Given the description of an element on the screen output the (x, y) to click on. 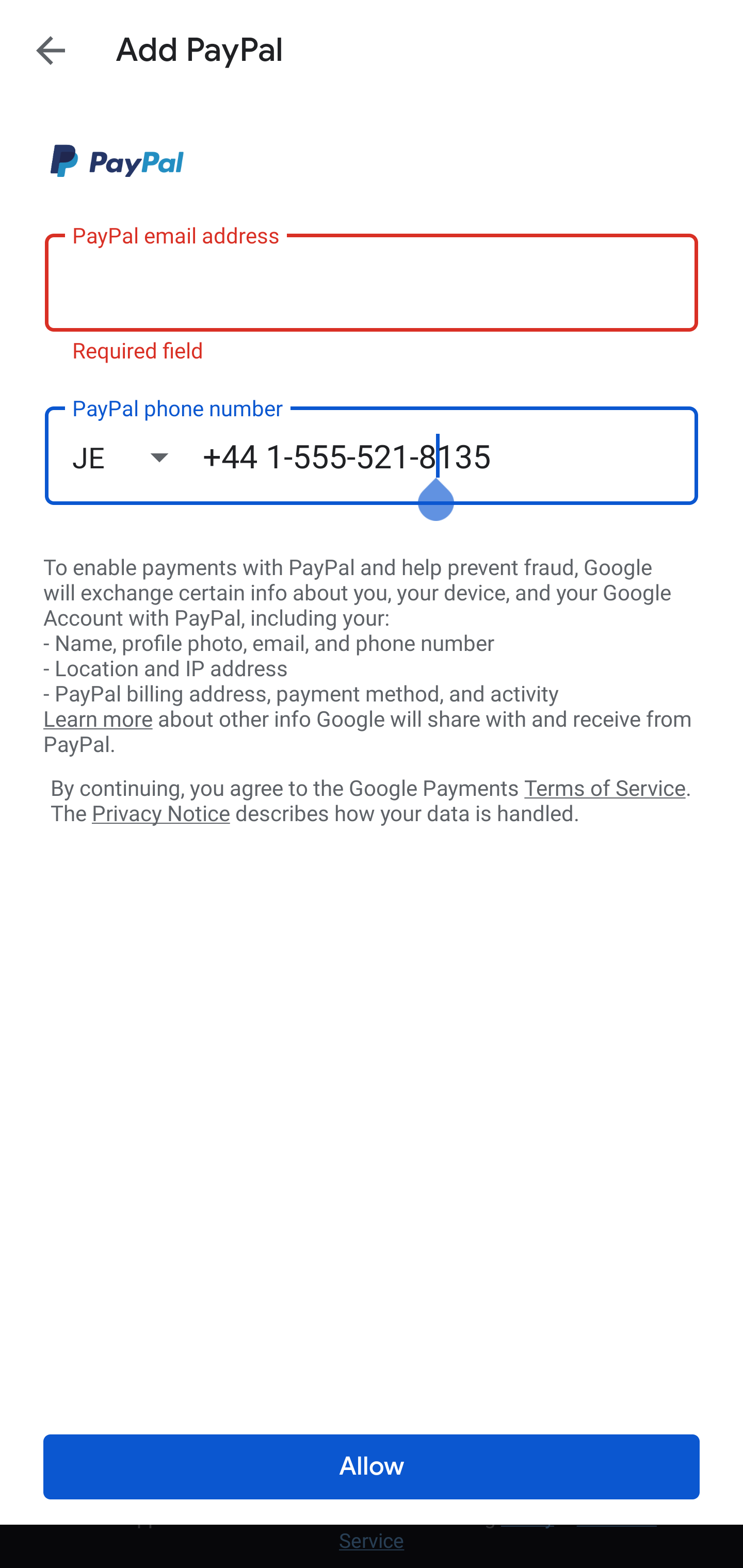
Navigate up (50, 50)
JE (137, 456)
Learn more (97, 719)
Terms of Service (604, 787)
Privacy Notice (160, 814)
Allow (371, 1466)
